Given the description of an element on the screen output the (x, y) to click on. 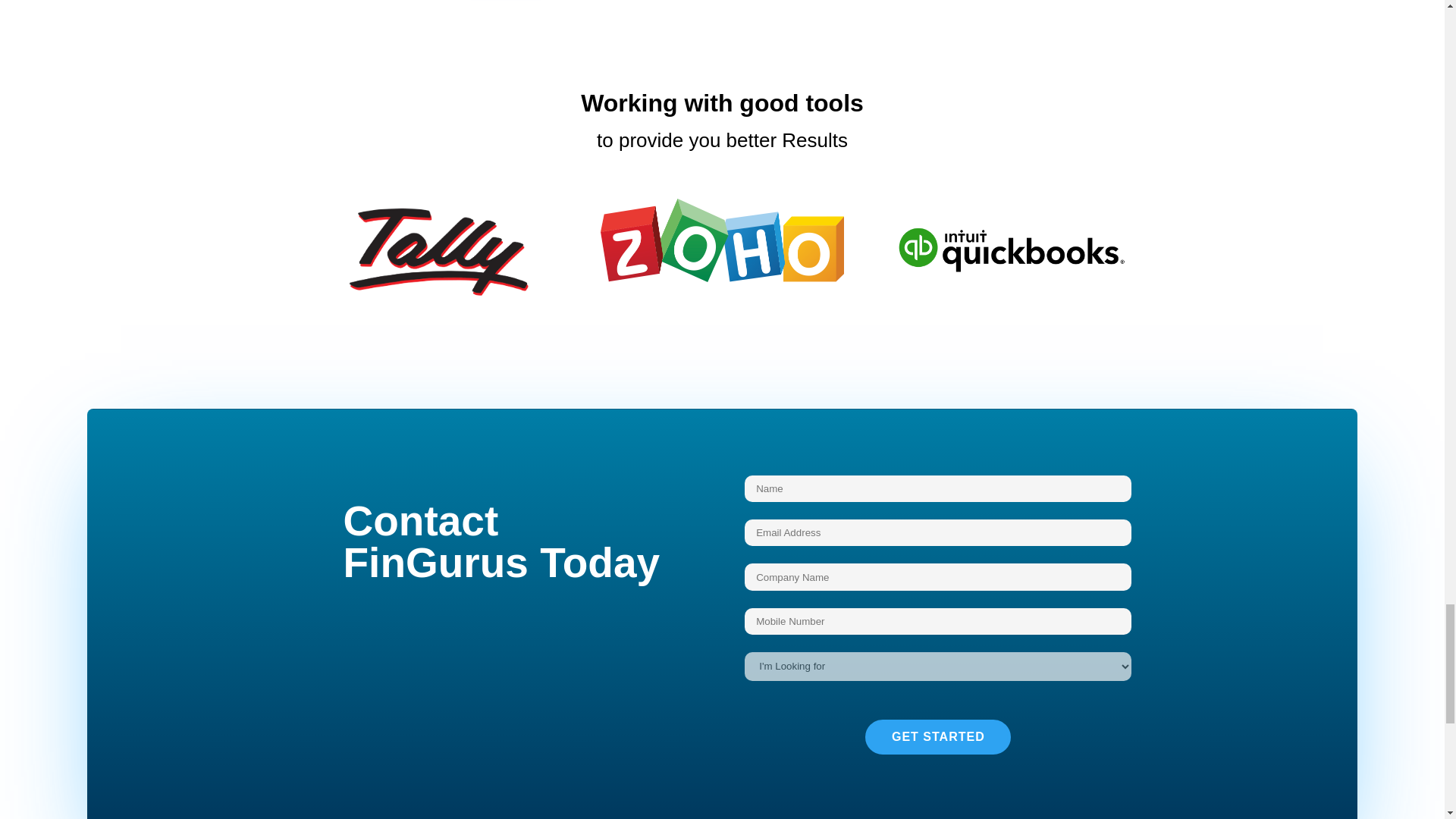
zoho-logo (721, 240)
Get Started (937, 736)
Get Started (937, 736)
pngegg (433, 251)
